Given the description of an element on the screen output the (x, y) to click on. 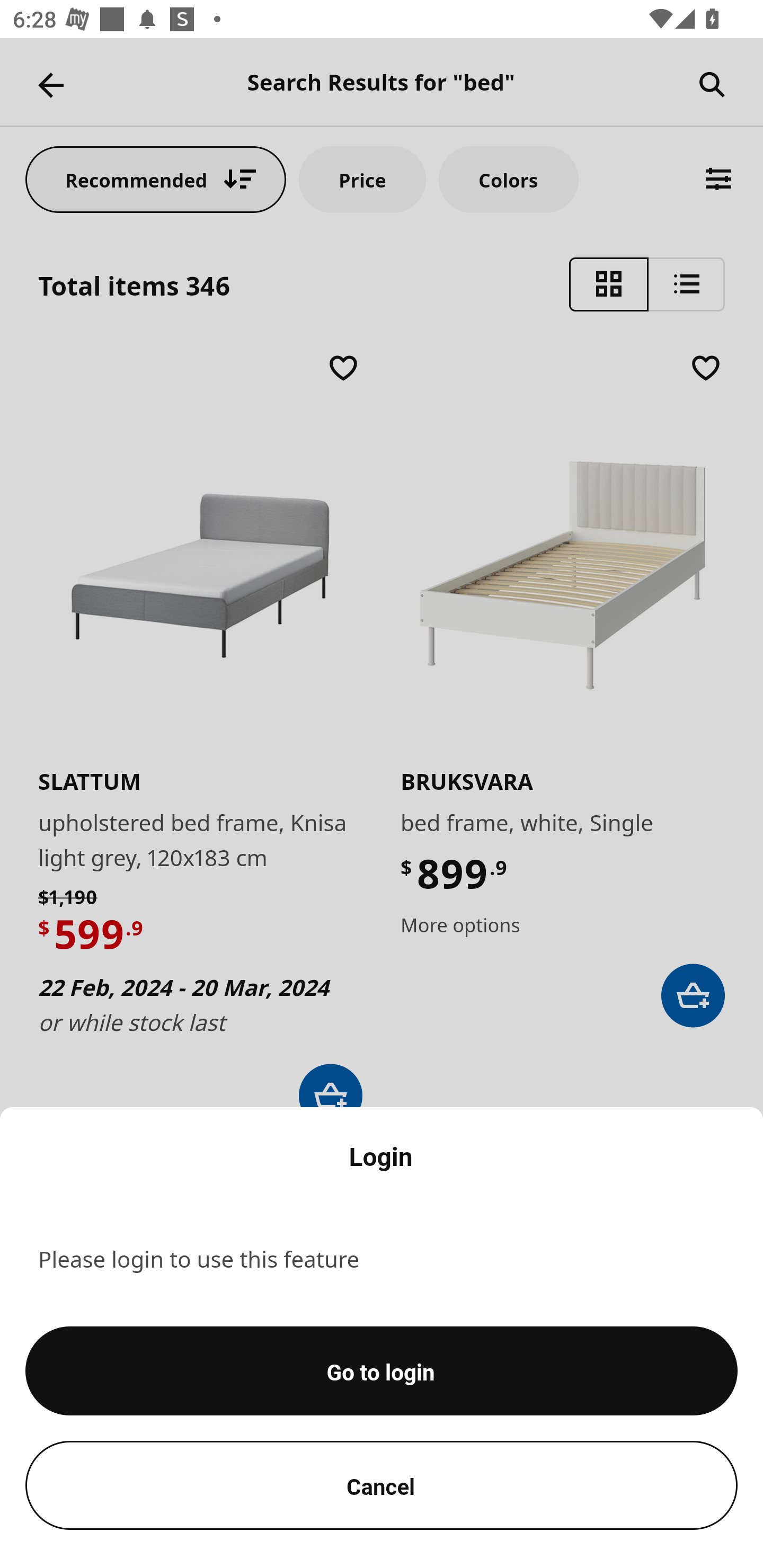
Go to login (381, 1370)
Cancel (381, 1485)
